Given the description of an element on the screen output the (x, y) to click on. 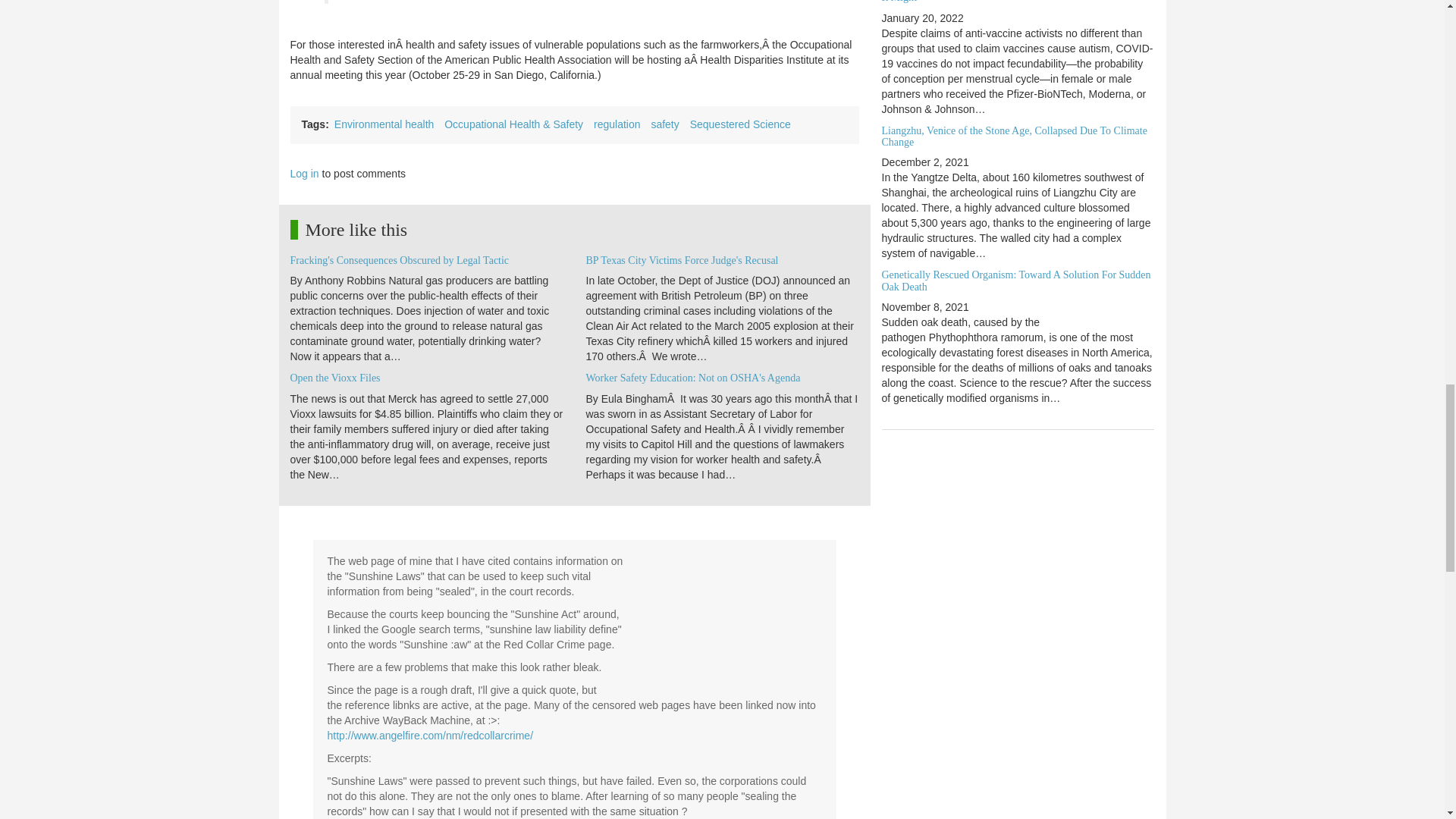
Open the Vioxx Files (334, 378)
regulation (617, 123)
Worker Safety Education: Not on OSHA's Agenda (692, 378)
Fracking's Consequences Obscured by Legal Tactic (398, 260)
Log in (303, 173)
BP Texas City Victims Force Judge's Recusal (681, 260)
safety (664, 123)
Environmental health (383, 123)
Sequestered Science (740, 123)
